Given the description of an element on the screen output the (x, y) to click on. 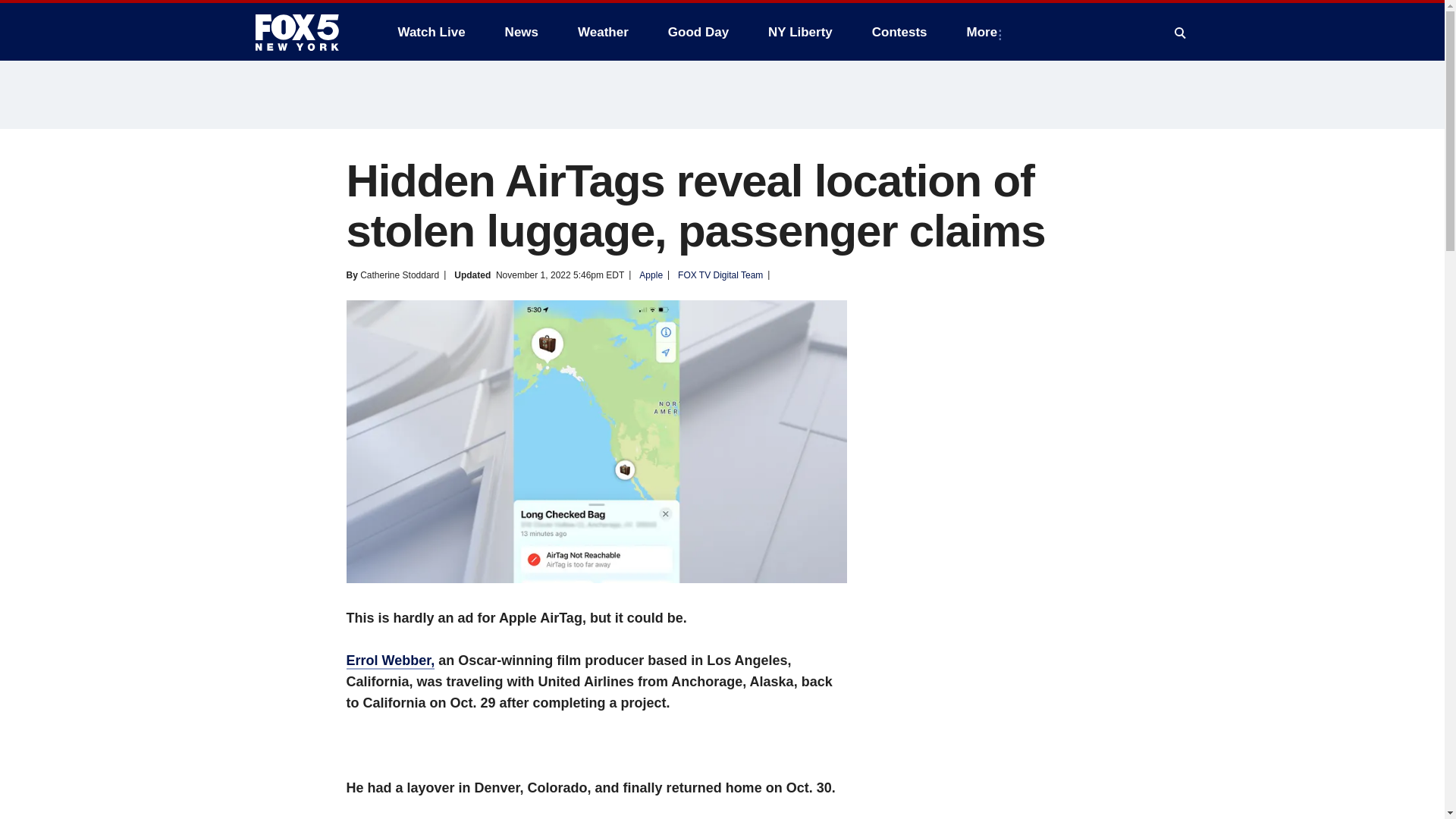
NY Liberty (799, 32)
More (985, 32)
Watch Live (431, 32)
Contests (899, 32)
Weather (603, 32)
Good Day (698, 32)
News (521, 32)
